Given the description of an element on the screen output the (x, y) to click on. 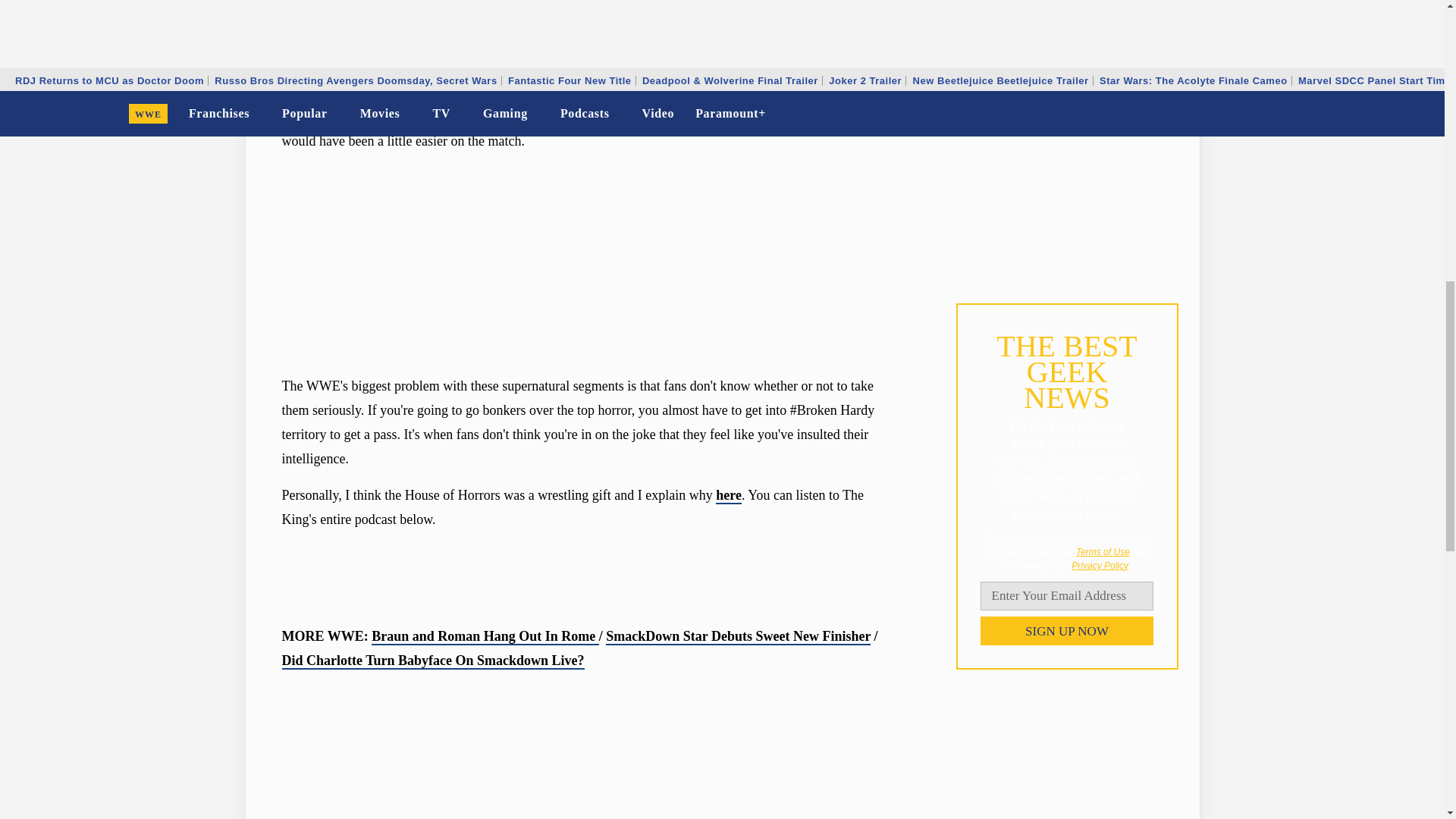
Video Player (590, 753)
